Given the description of an element on the screen output the (x, y) to click on. 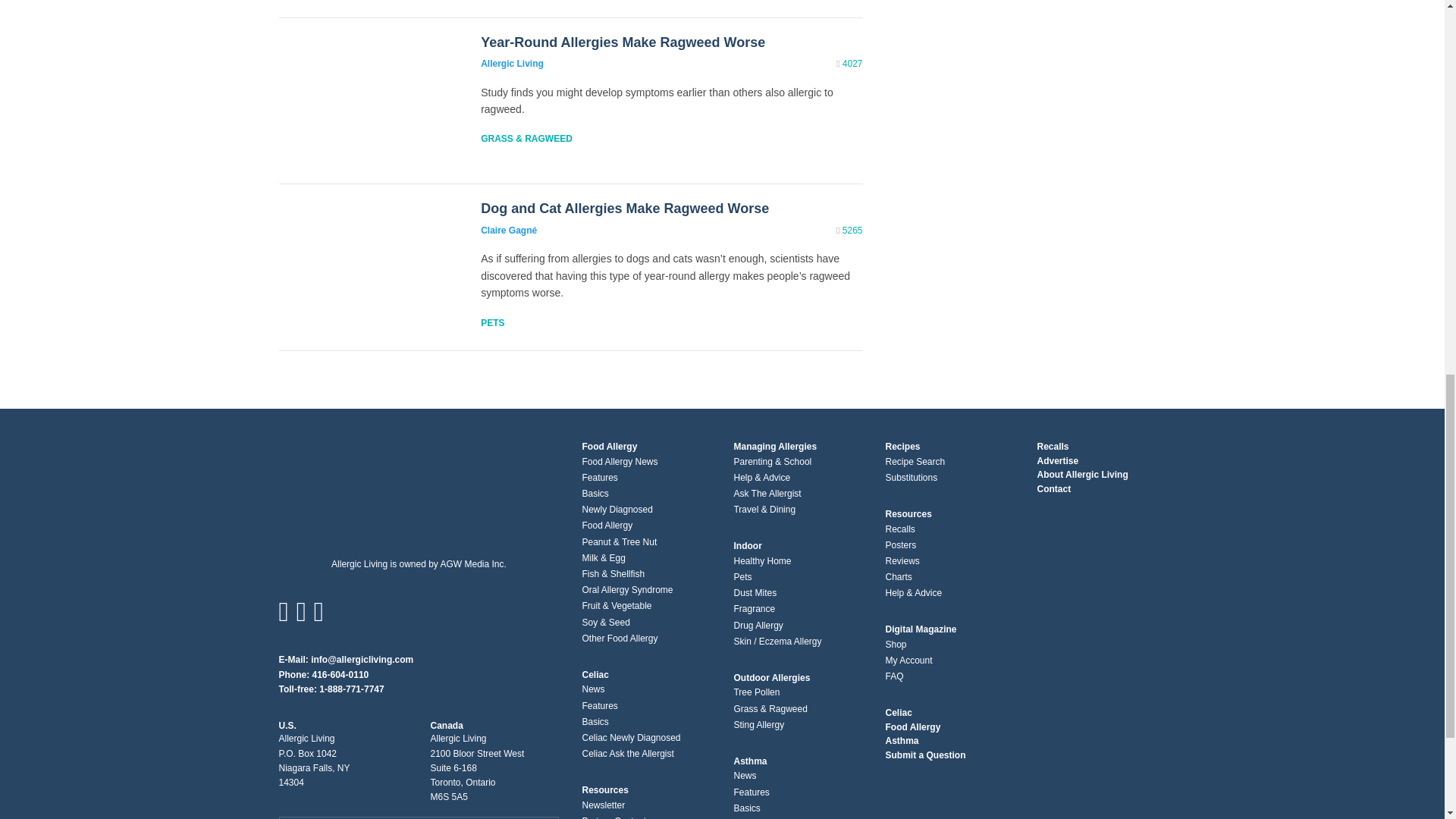
Year-Round Allergies Make Ragweed Worse (622, 42)
